Given the description of an element on the screen output the (x, y) to click on. 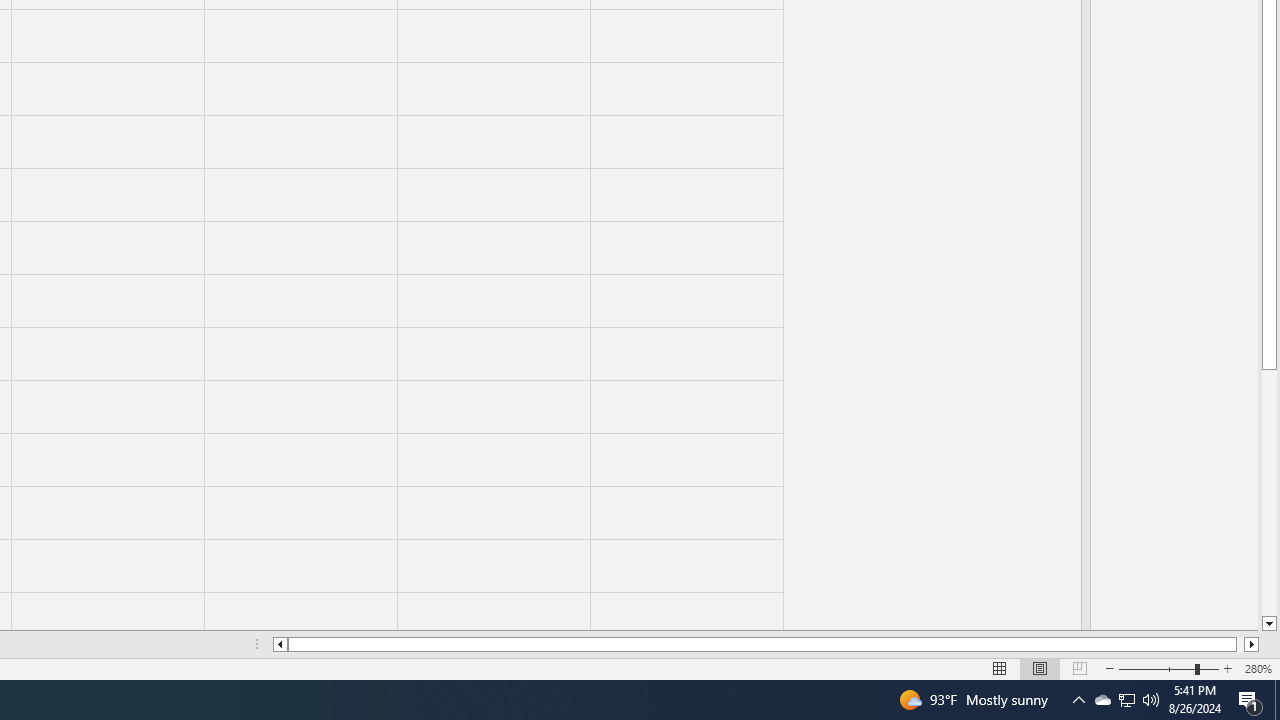
Zoom (1168, 668)
Zoom Out (1156, 668)
Page right (1240, 644)
Zoom In (1227, 668)
Page Layout (1039, 668)
Page down (1268, 493)
Column right (1252, 644)
Column left (279, 644)
Page Break Preview (1079, 668)
Line down (1268, 624)
Class: NetUIScrollBar (765, 644)
Normal (1000, 668)
